Given the description of an element on the screen output the (x, y) to click on. 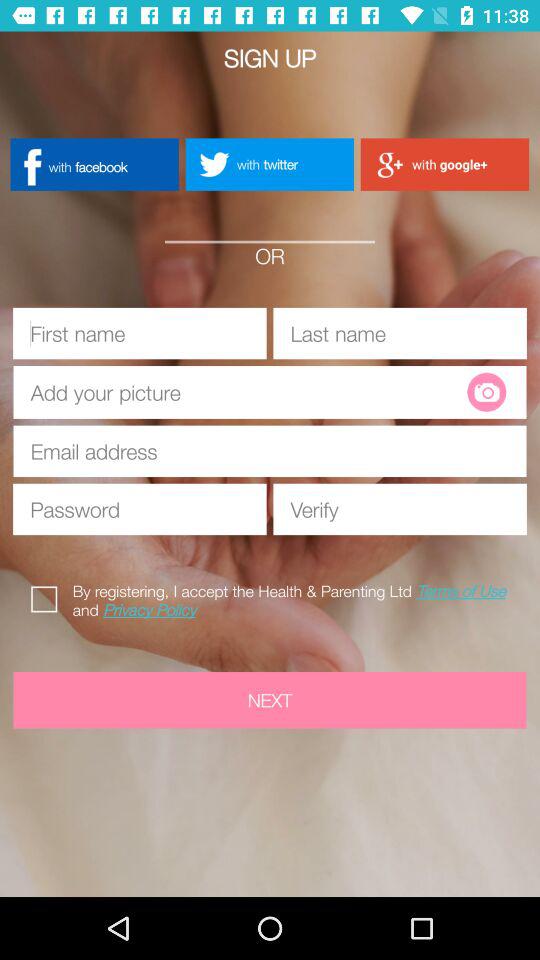
option to add picture (248, 392)
